Given the description of an element on the screen output the (x, y) to click on. 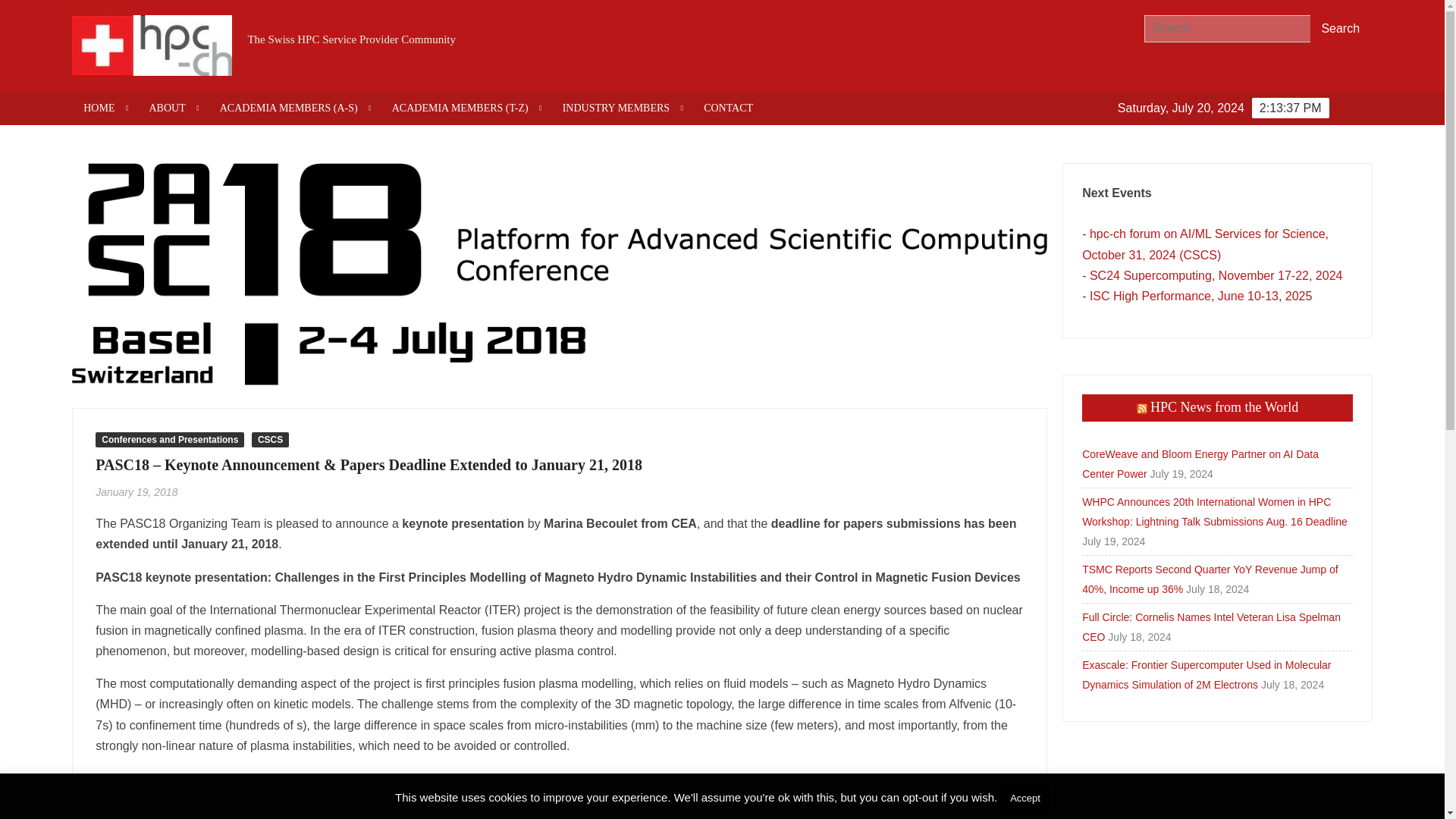
Search (1340, 28)
Search (1340, 28)
